Given the description of an element on the screen output the (x, y) to click on. 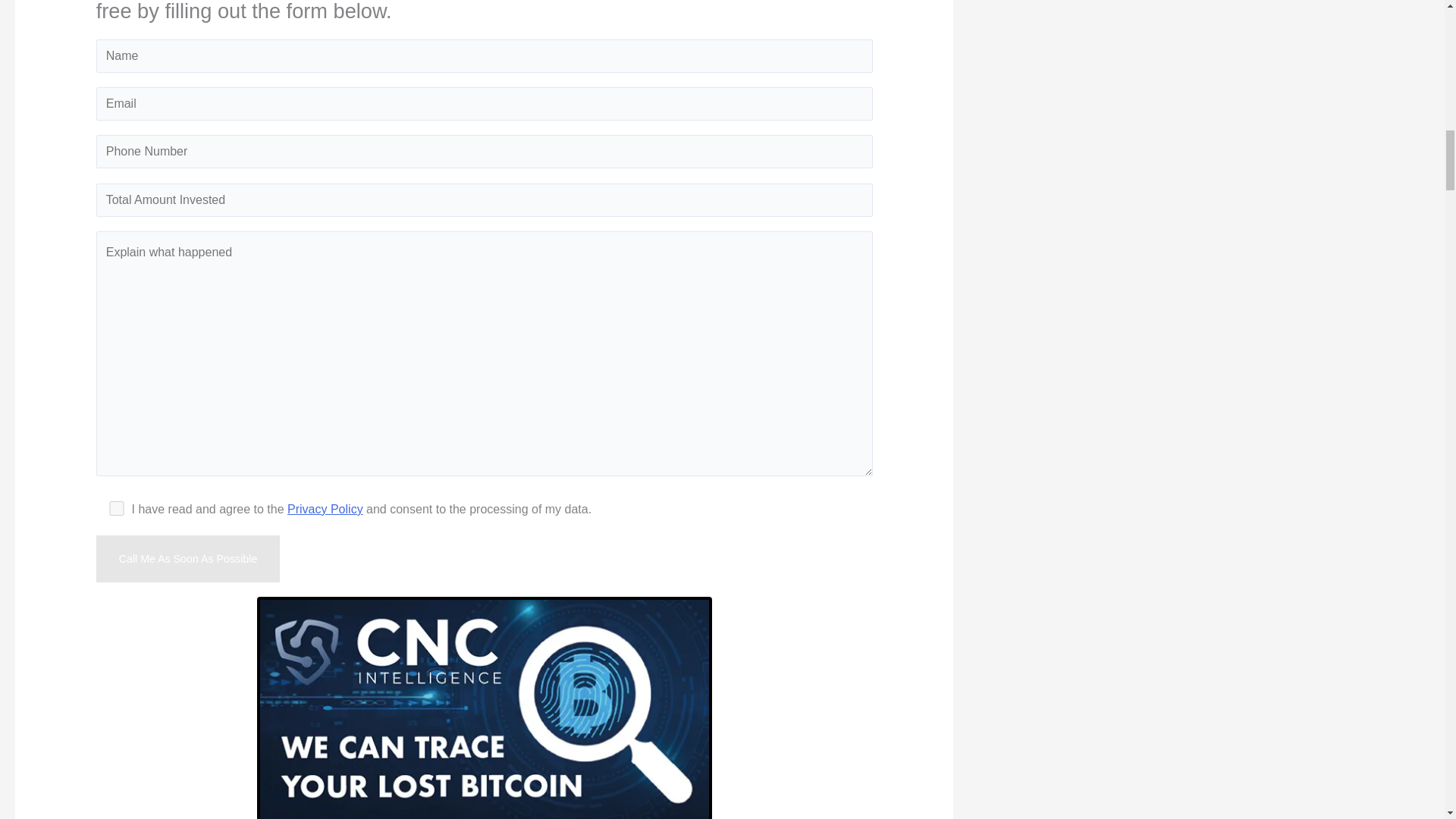
Privacy Policy (324, 508)
Call Me As Soon As Possible (188, 558)
1 (116, 508)
